Given the description of an element on the screen output the (x, y) to click on. 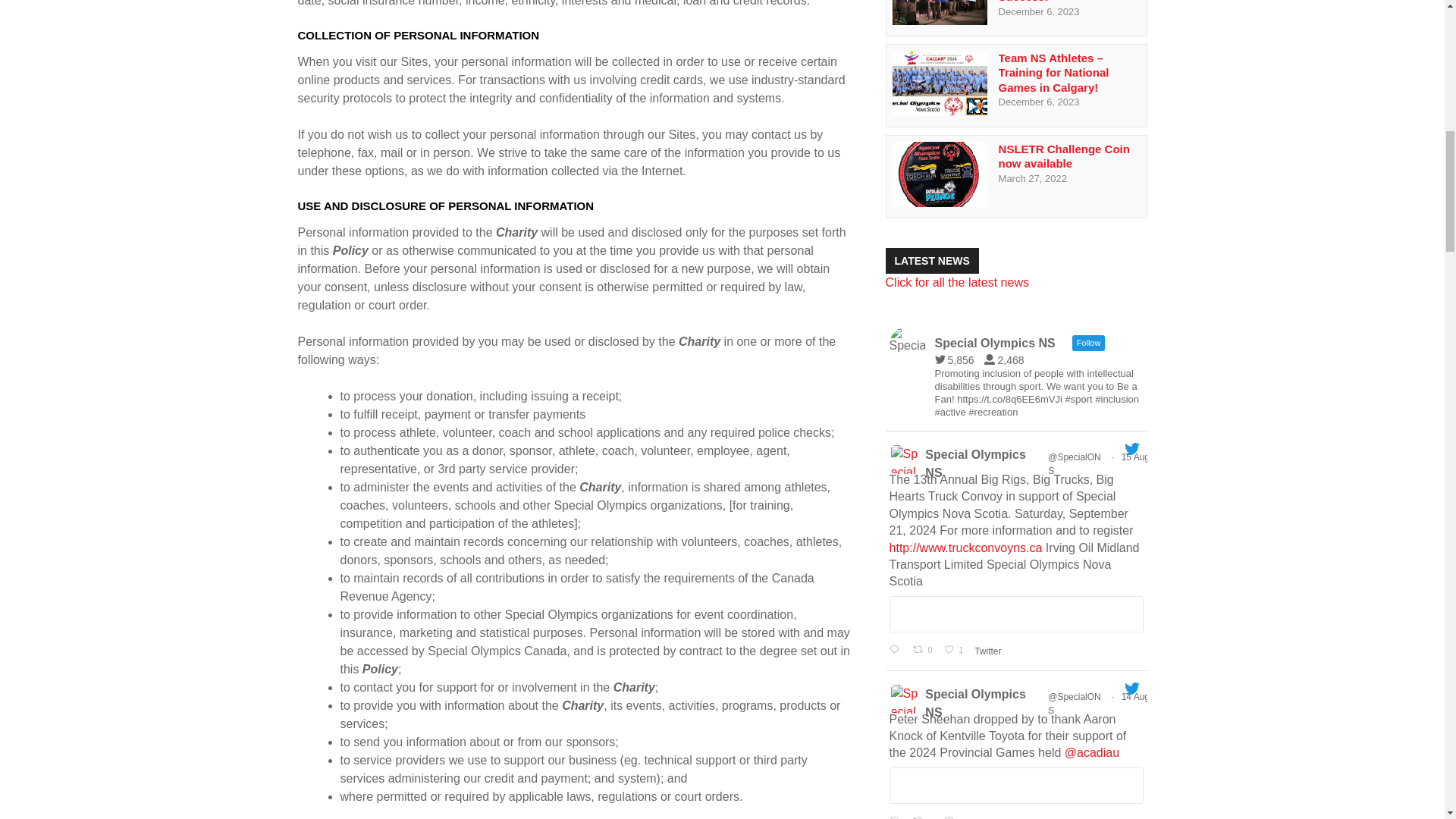
5,856 Tweets (957, 359)
NSLETR Challenge Coin now available (939, 203)
2,468 Followers (1007, 359)
